Given the description of an element on the screen output the (x, y) to click on. 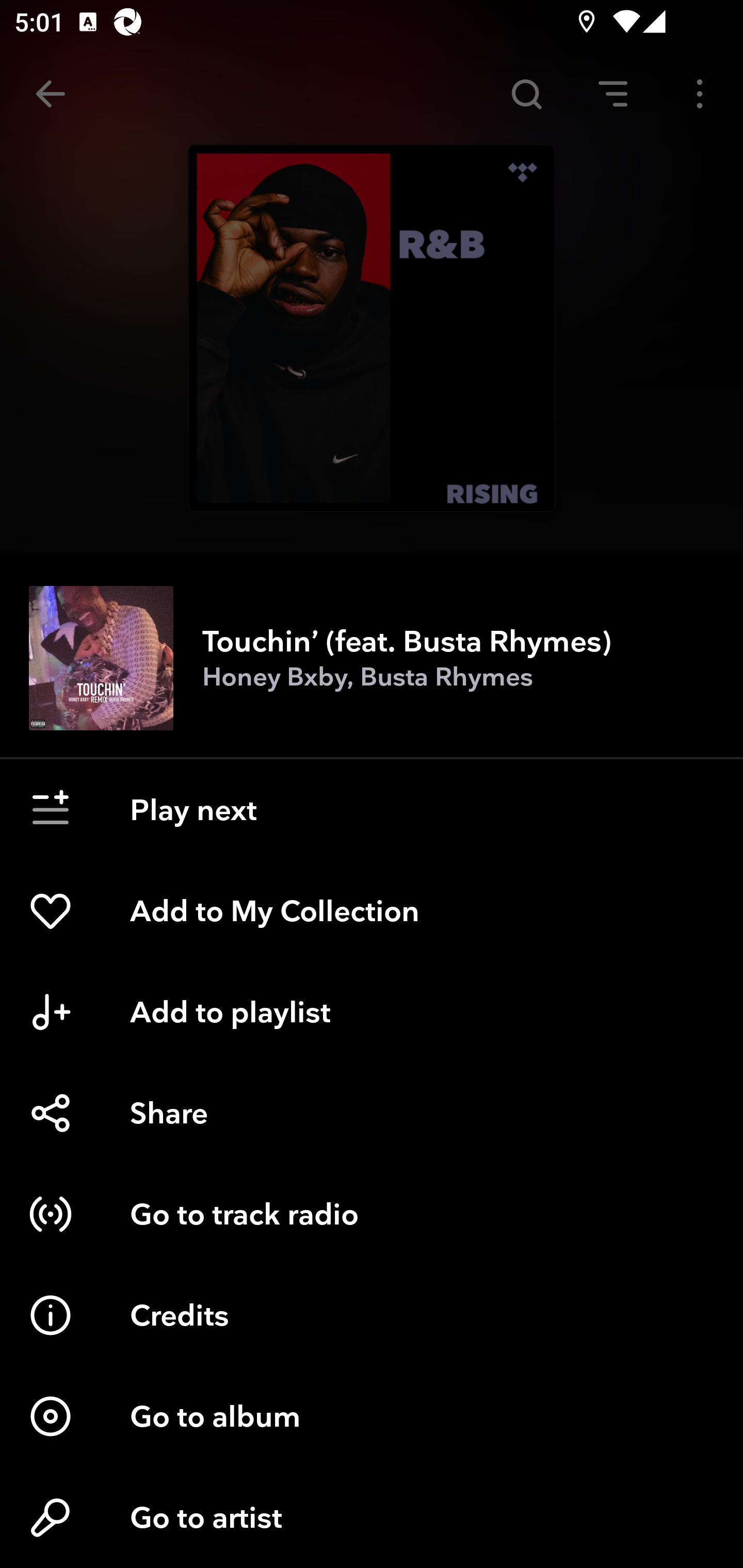
Play next (371, 809)
Add to My Collection (371, 910)
Add to playlist (371, 1012)
Share (371, 1113)
Go to track radio (371, 1214)
Credits (371, 1315)
Go to album (371, 1416)
Go to artist (371, 1517)
